Given the description of an element on the screen output the (x, y) to click on. 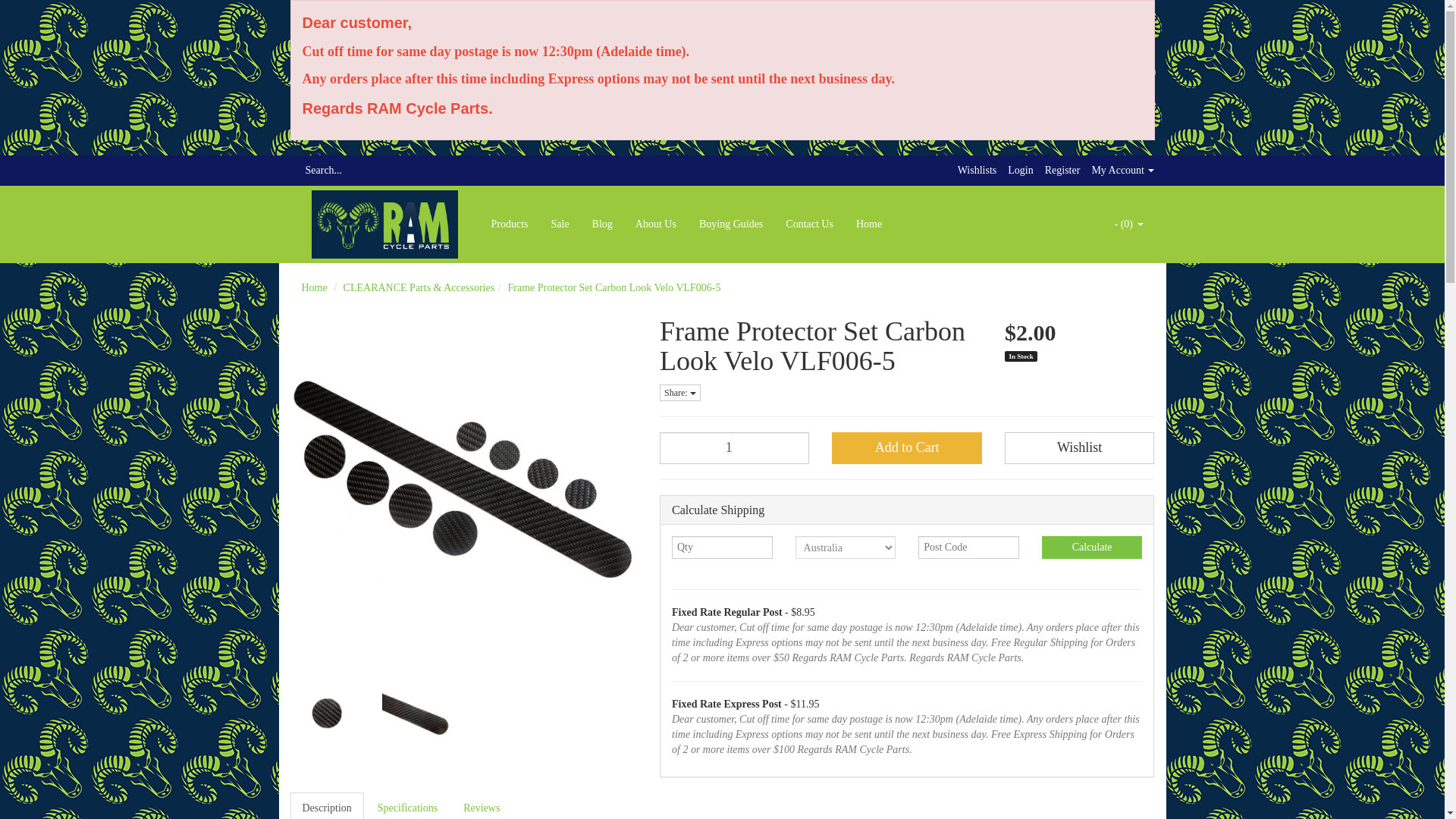
Search (294, 170)
Large View (324, 713)
Register (1062, 170)
1 (734, 448)
Wishlists (977, 170)
Register (1062, 170)
Login (1019, 170)
Frame Protector Set Carbon Look Velo VLF006-5 (613, 287)
Contact Us (809, 224)
Buying Guides (730, 224)
Add to Cart (906, 448)
Share: (679, 392)
My Account (1122, 170)
Large View (416, 713)
Add to Cart (906, 448)
